Given the description of an element on the screen output the (x, y) to click on. 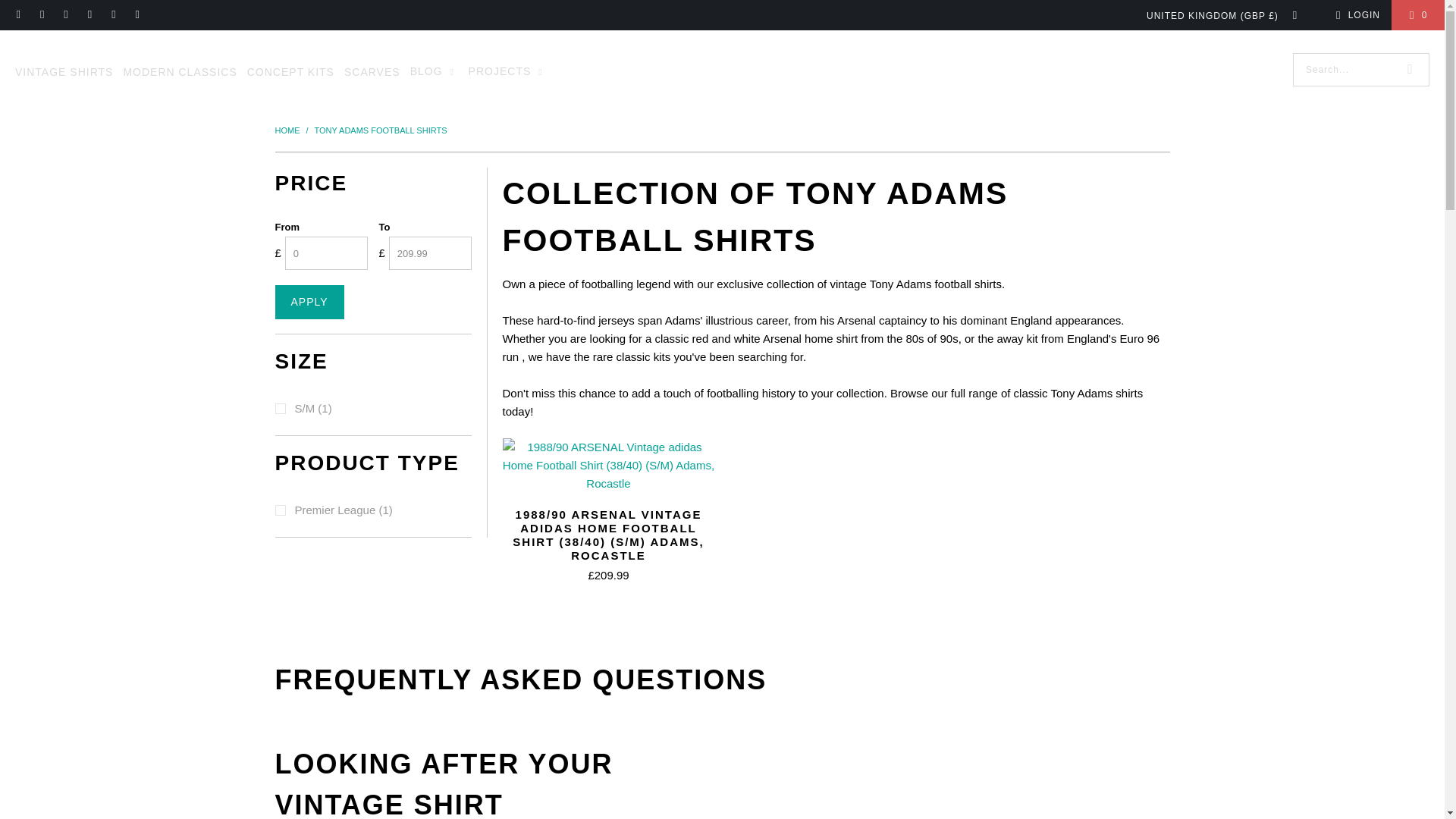
Football Shirt Collective on YouTube (136, 14)
My Account  (1355, 14)
Football Shirt Collective on Instagram (65, 14)
Football Shirt Collective (288, 130)
Football Shirt Collective on LinkedIn (89, 14)
Football Shirt Collective on Twitter (112, 14)
Email Football Shirt Collective (17, 14)
Apply (309, 302)
Tony Adams football shirts (380, 130)
Football Shirt Collective on Facebook (41, 14)
